Given the description of an element on the screen output the (x, y) to click on. 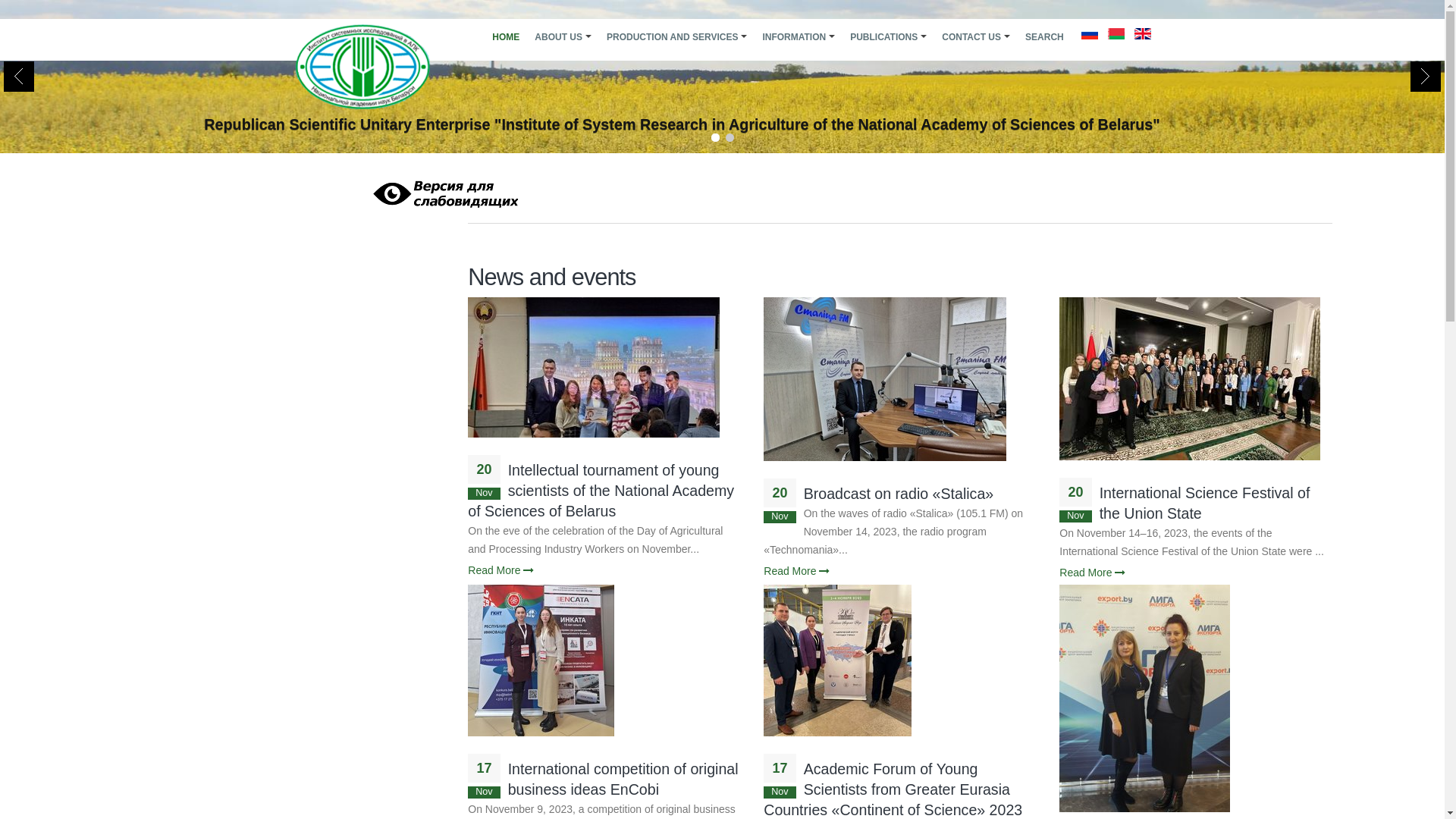
International competition of original business ideas EnCobi Element type: text (623, 778)
INFORMATION Element type: text (798, 37)
ABOUT US Element type: text (562, 37)
English Element type: hover (1142, 32)
Read More Element type: text (1092, 572)
Visually impaired site version Element type: text (442, 193)
PUBLICATIONS Element type: text (888, 37)
SEARCH Element type: text (1044, 37)
International Science Festival of the Union State Element type: text (1204, 502)
PRODUCTION AND SERVICES Element type: text (676, 37)
Read More Element type: text (796, 570)
Read More Element type: text (500, 570)
CONTACT US Element type: text (975, 37)
HOME Element type: text (505, 37)
